Given the description of an element on the screen output the (x, y) to click on. 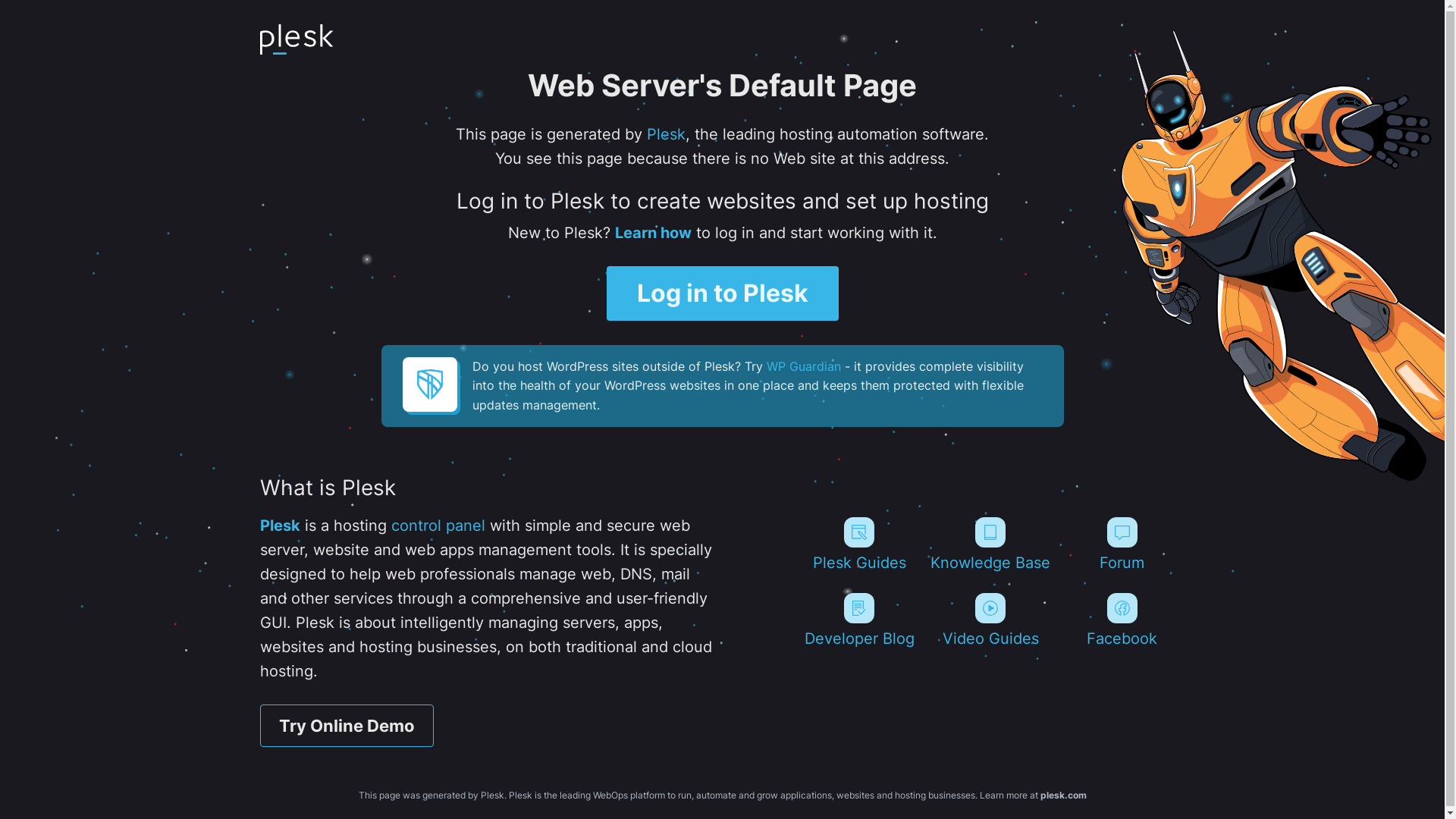
Learn how Element type: text (652, 232)
Developer Blog Element type: text (858, 620)
Video Guides Element type: text (990, 620)
Knowledge Base Element type: text (990, 544)
Plesk Element type: text (665, 134)
Facebook Element type: text (1121, 620)
Plesk Guides Element type: text (858, 544)
control panel Element type: text (438, 525)
plesk.com Element type: text (1063, 794)
Log in to Plesk Element type: text (722, 293)
Forum Element type: text (1121, 544)
Plesk Element type: text (279, 525)
WP Guardian Element type: text (802, 365)
Try Online Demo Element type: text (346, 725)
